Given the description of an element on the screen output the (x, y) to click on. 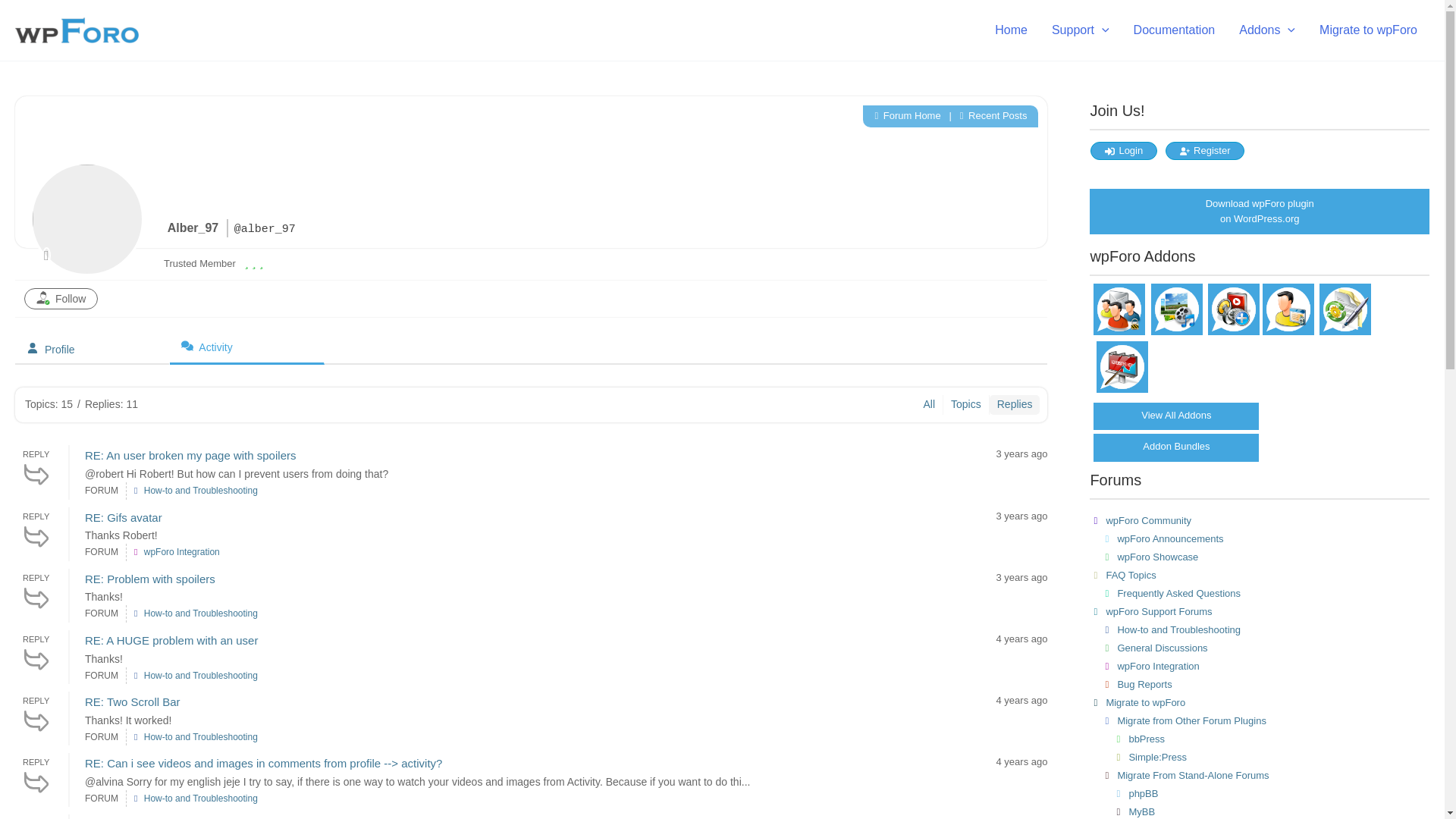
RE: An user broken my page with spoilers (189, 454)
Profile (92, 349)
wpForo Integration (181, 552)
wpForo Ads Manager addon (1122, 389)
wpForo Embeds addon (1233, 331)
Migrate to wpForo (1368, 30)
Addons (1267, 30)
Rating Title (199, 263)
wpForo Private Messages addon (1118, 331)
wpForo User Custom Fields addon (1287, 331)
